Given the description of an element on the screen output the (x, y) to click on. 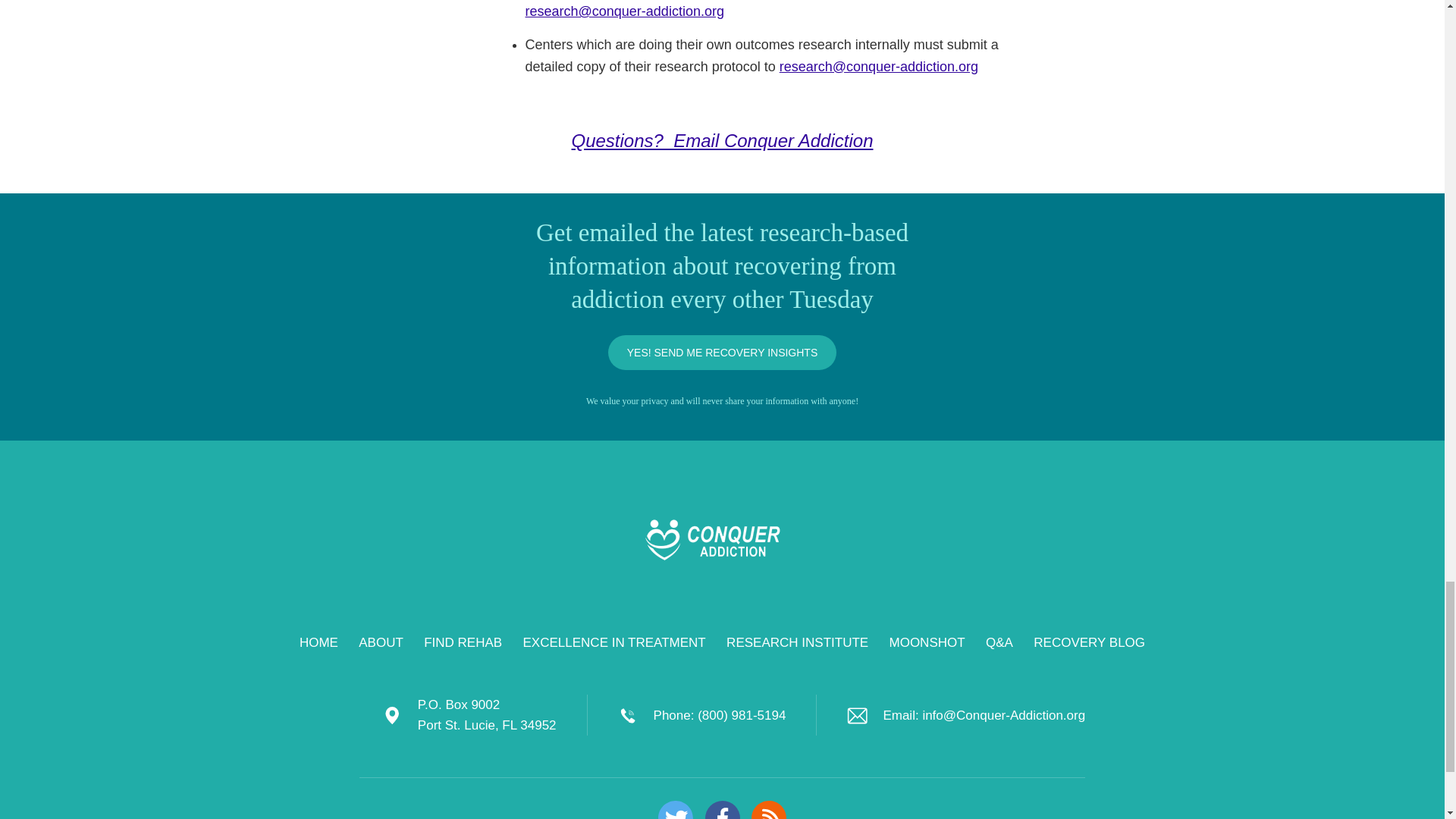
Twitter (675, 809)
Blog (768, 809)
FIND REHAB (462, 642)
RECOVERY BLOG (1088, 642)
Twitter (675, 809)
YES! SEND ME RECOVERY INSIGHTS (722, 352)
LinkedIn (721, 809)
MOONSHOT (927, 642)
RESEARCH INSTITUTE (796, 642)
HOME (318, 642)
